Given the description of an element on the screen output the (x, y) to click on. 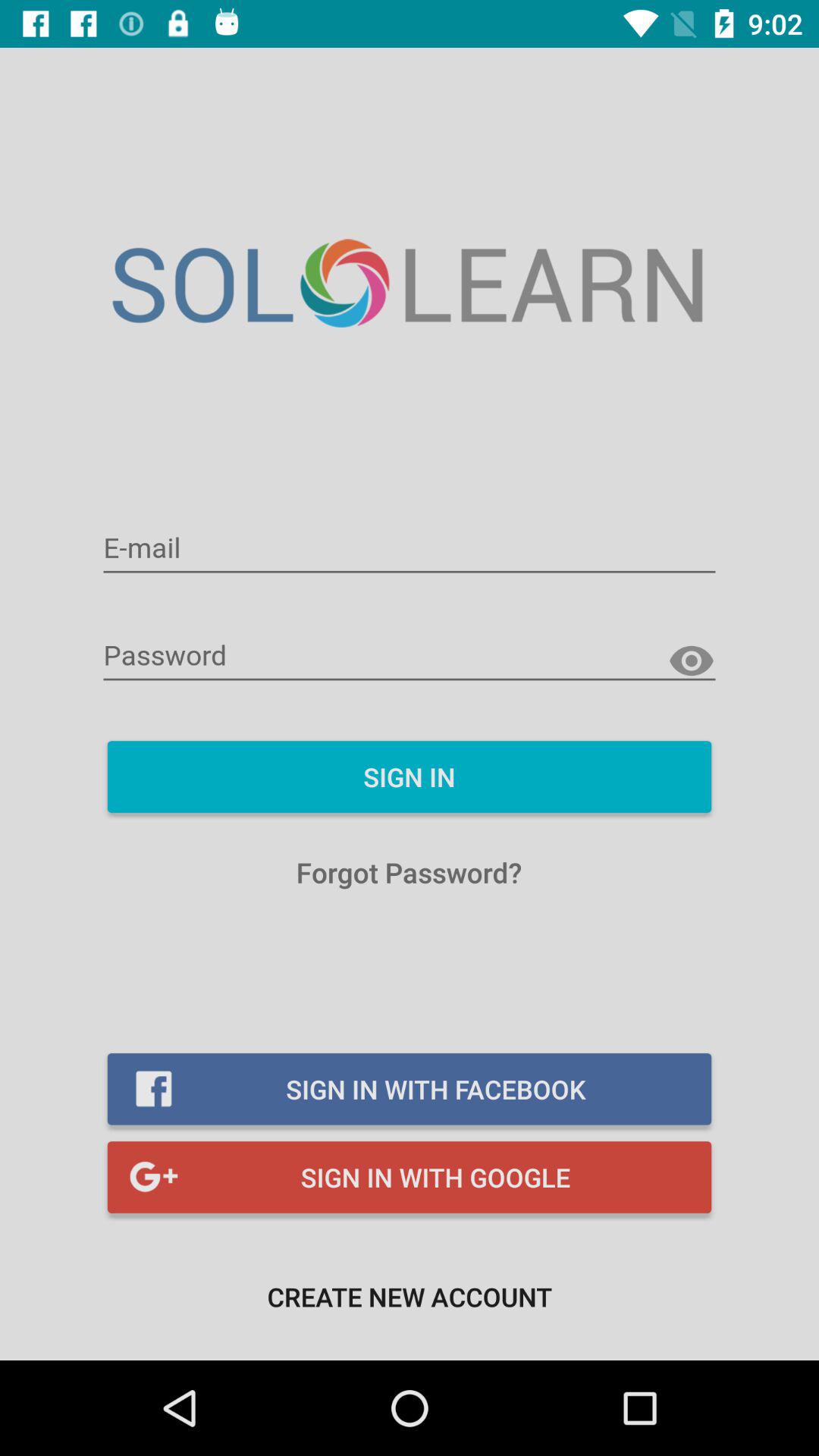
show password (691, 661)
